Given the description of an element on the screen output the (x, y) to click on. 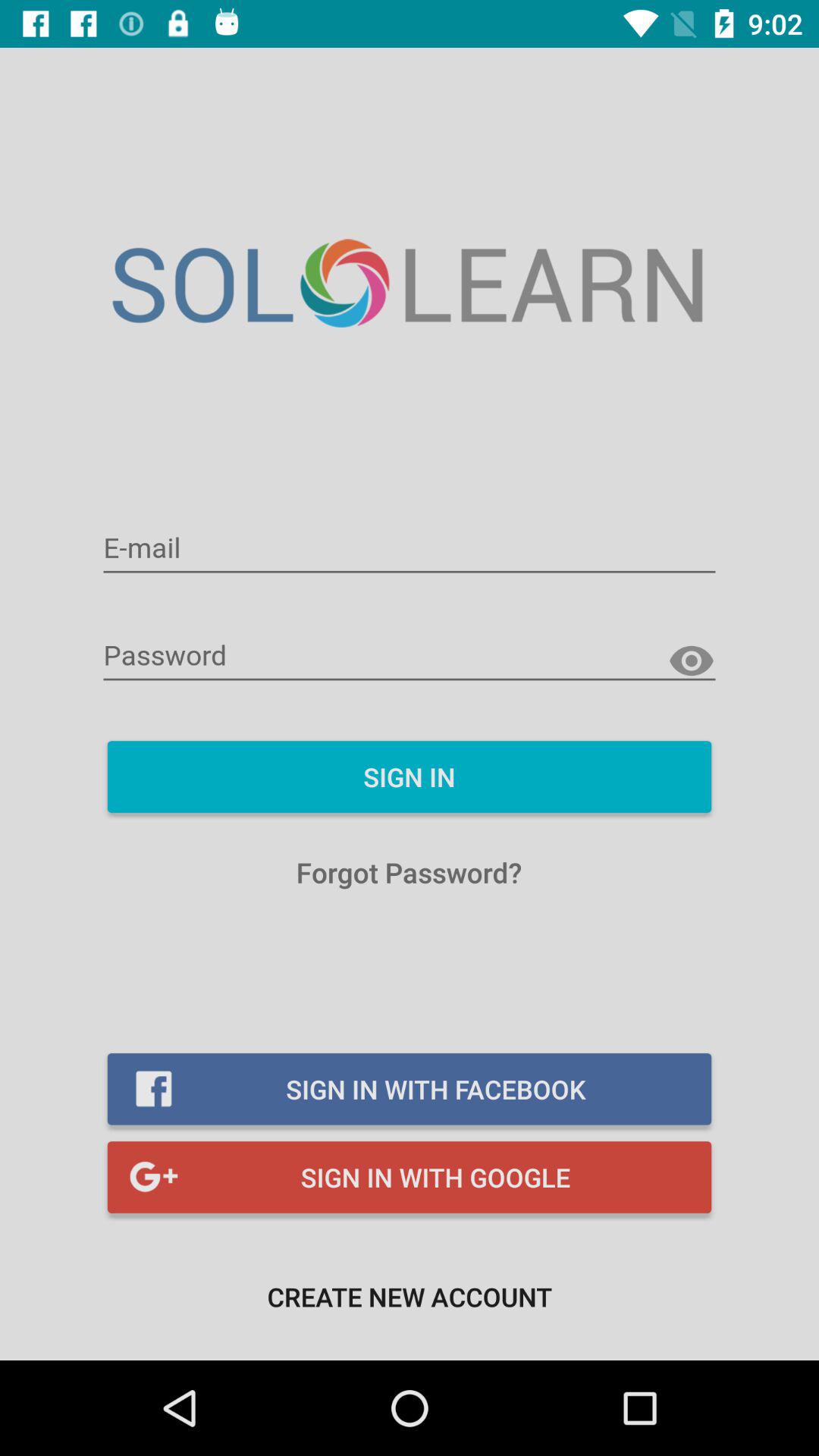
show password (691, 661)
